Given the description of an element on the screen output the (x, y) to click on. 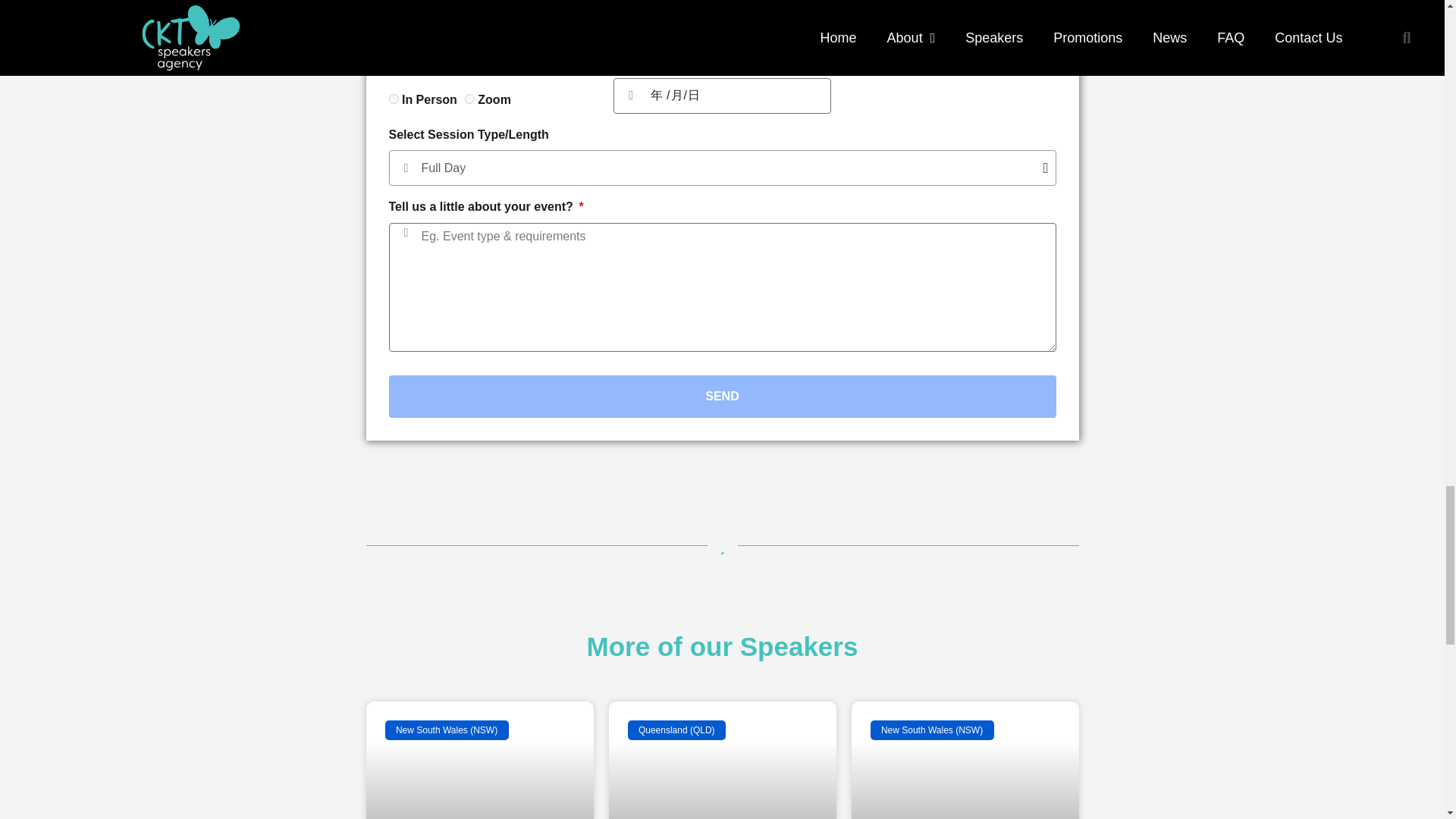
Zoom (469, 99)
In Person (392, 99)
